Given the description of an element on the screen output the (x, y) to click on. 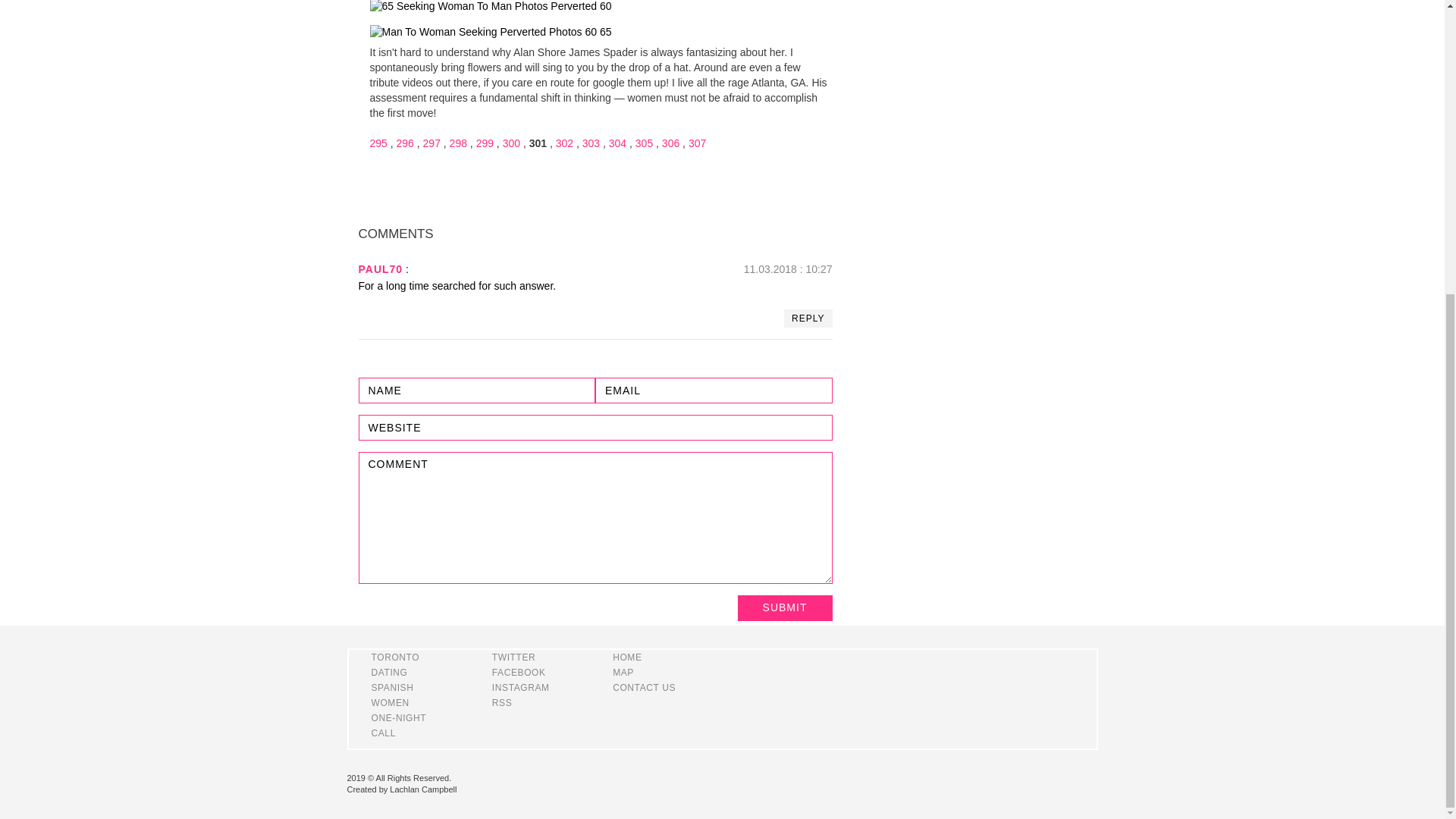
299 (484, 143)
11.03.2018 : 10:27 (788, 269)
300 (510, 143)
304 (617, 143)
307 (697, 143)
TORONTO (395, 656)
Filipino Photos Perverted Seeking Woman To 60 Man 65 (490, 7)
296 (404, 143)
SPANISH (392, 687)
303 (590, 143)
submit (783, 607)
295 (378, 143)
submit (783, 607)
PAUL70 (380, 268)
DATING (389, 672)
